Given the description of an element on the screen output the (x, y) to click on. 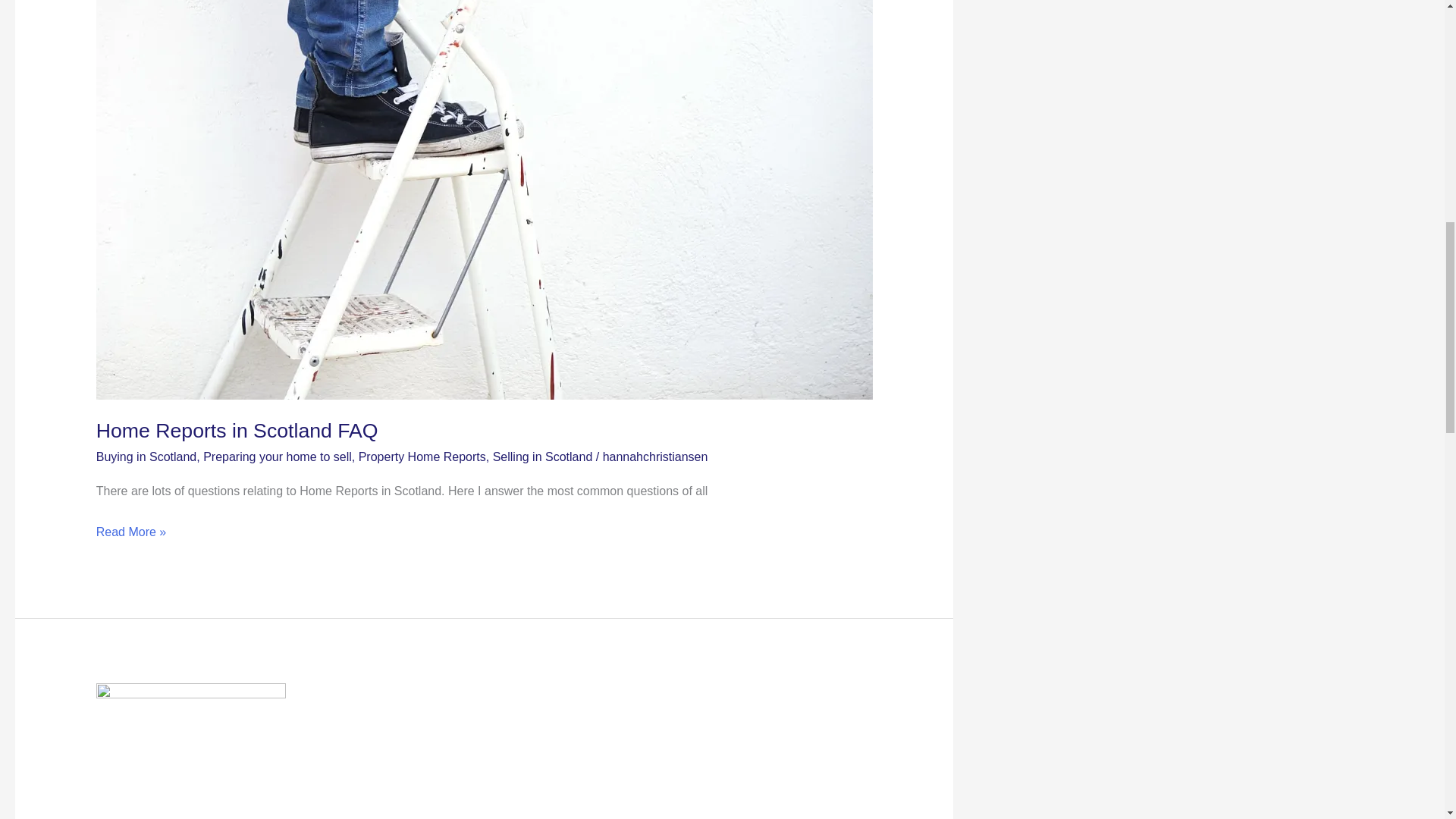
View all posts by hannahchristiansen (654, 456)
